Given the description of an element on the screen output the (x, y) to click on. 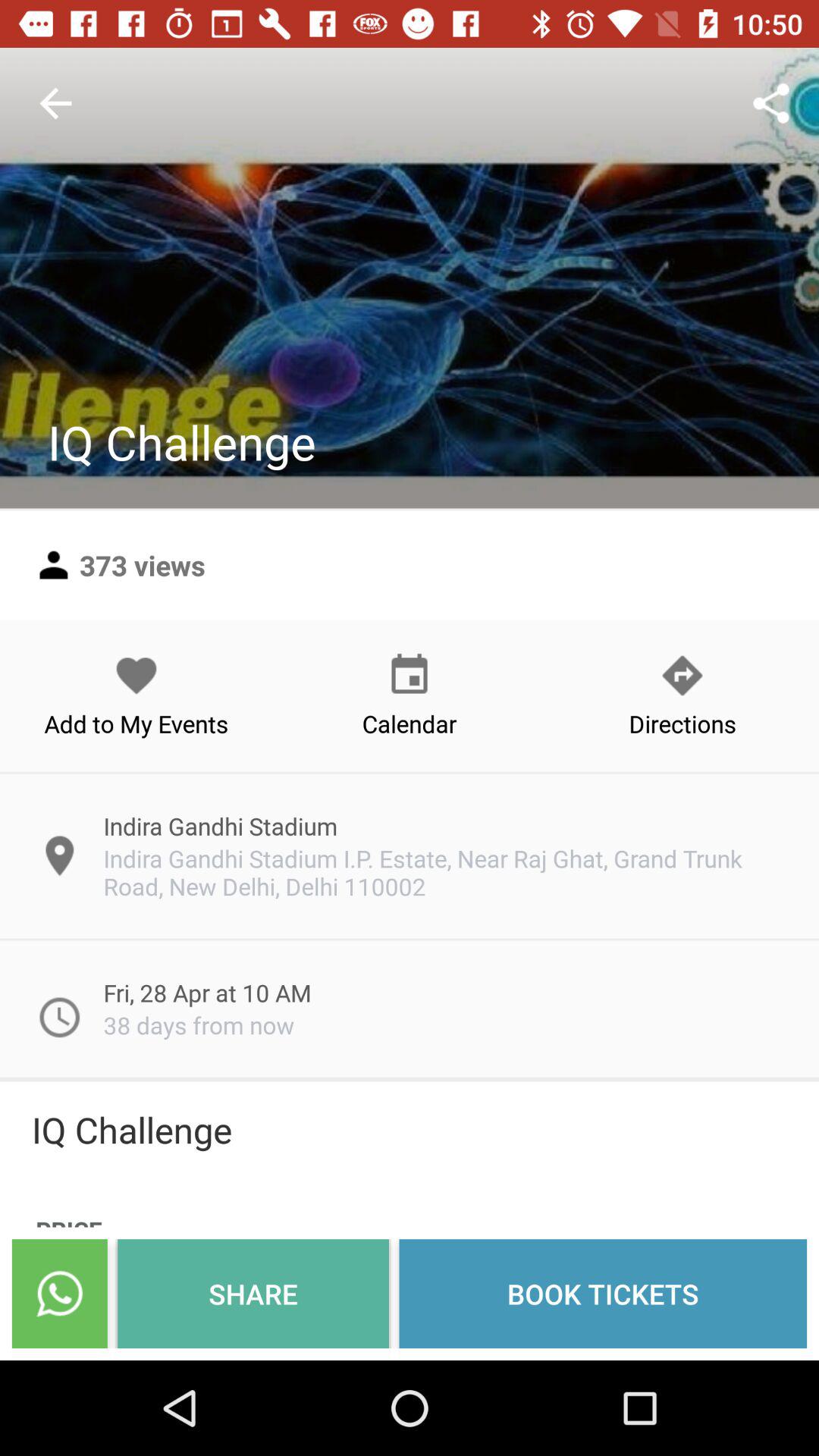
click the directions on the right (682, 695)
